Given the description of an element on the screen output the (x, y) to click on. 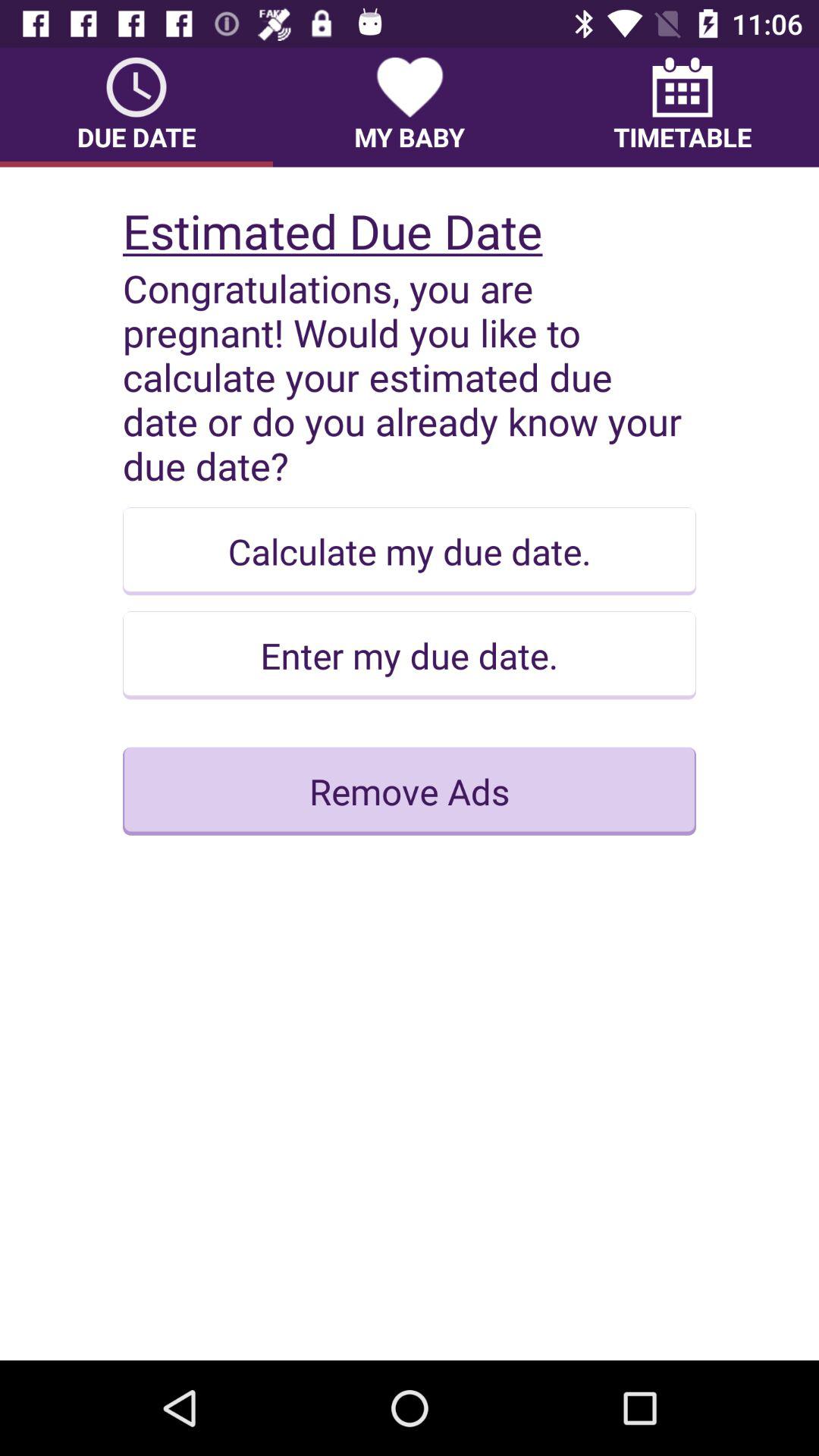
launch item next to due date icon (409, 107)
